Given the description of an element on the screen output the (x, y) to click on. 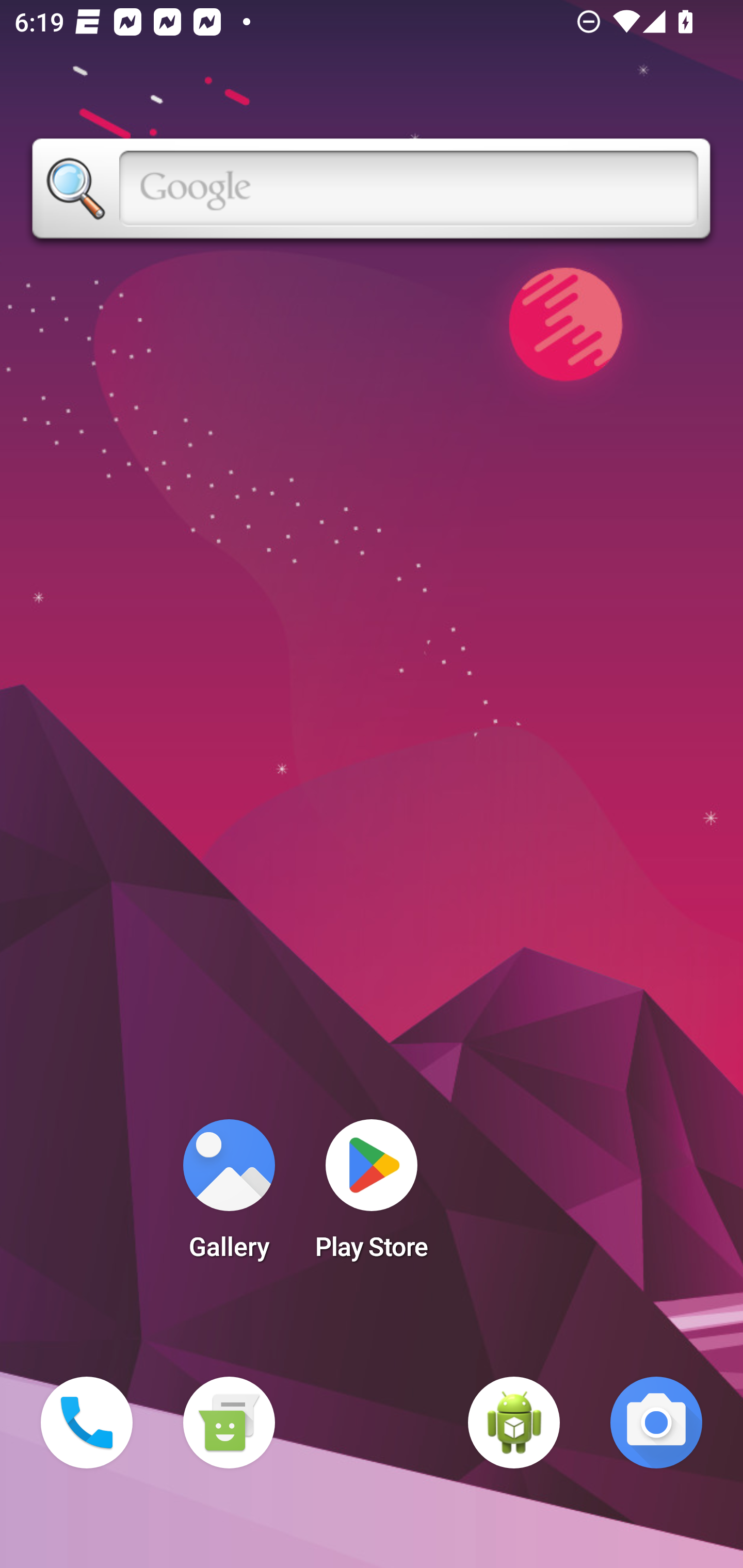
Gallery (228, 1195)
Play Store (371, 1195)
Phone (86, 1422)
Messaging (228, 1422)
WebView Browser Tester (513, 1422)
Camera (656, 1422)
